Given the description of an element on the screen output the (x, y) to click on. 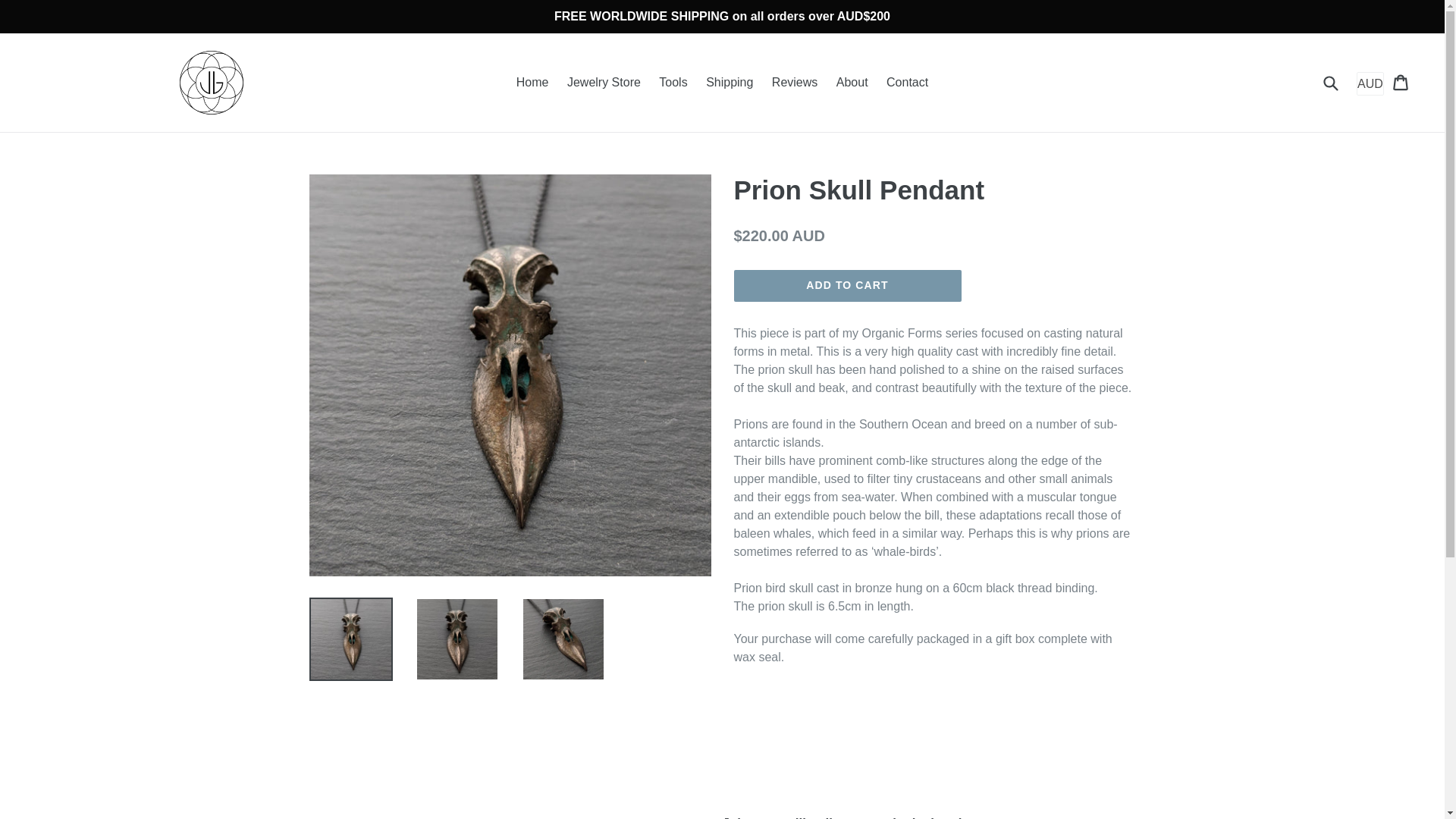
Jewelry Store (603, 82)
Contact (907, 82)
Reviews (794, 82)
Shipping (729, 82)
About (852, 82)
Home (532, 82)
ADD TO CART (846, 286)
Tools (672, 82)
